Given the description of an element on the screen output the (x, y) to click on. 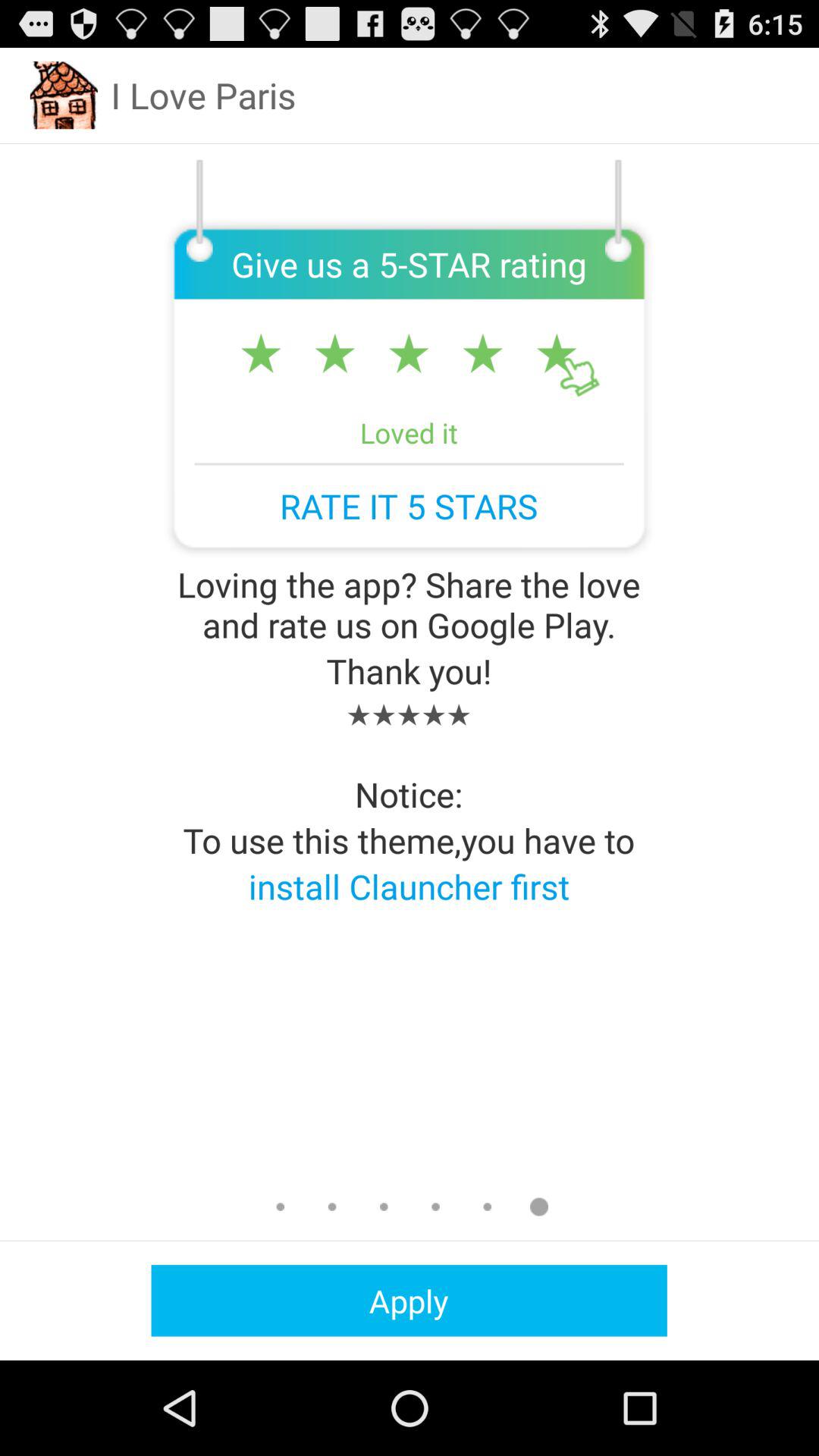
turn on the apply (409, 1300)
